Given the description of an element on the screen output the (x, y) to click on. 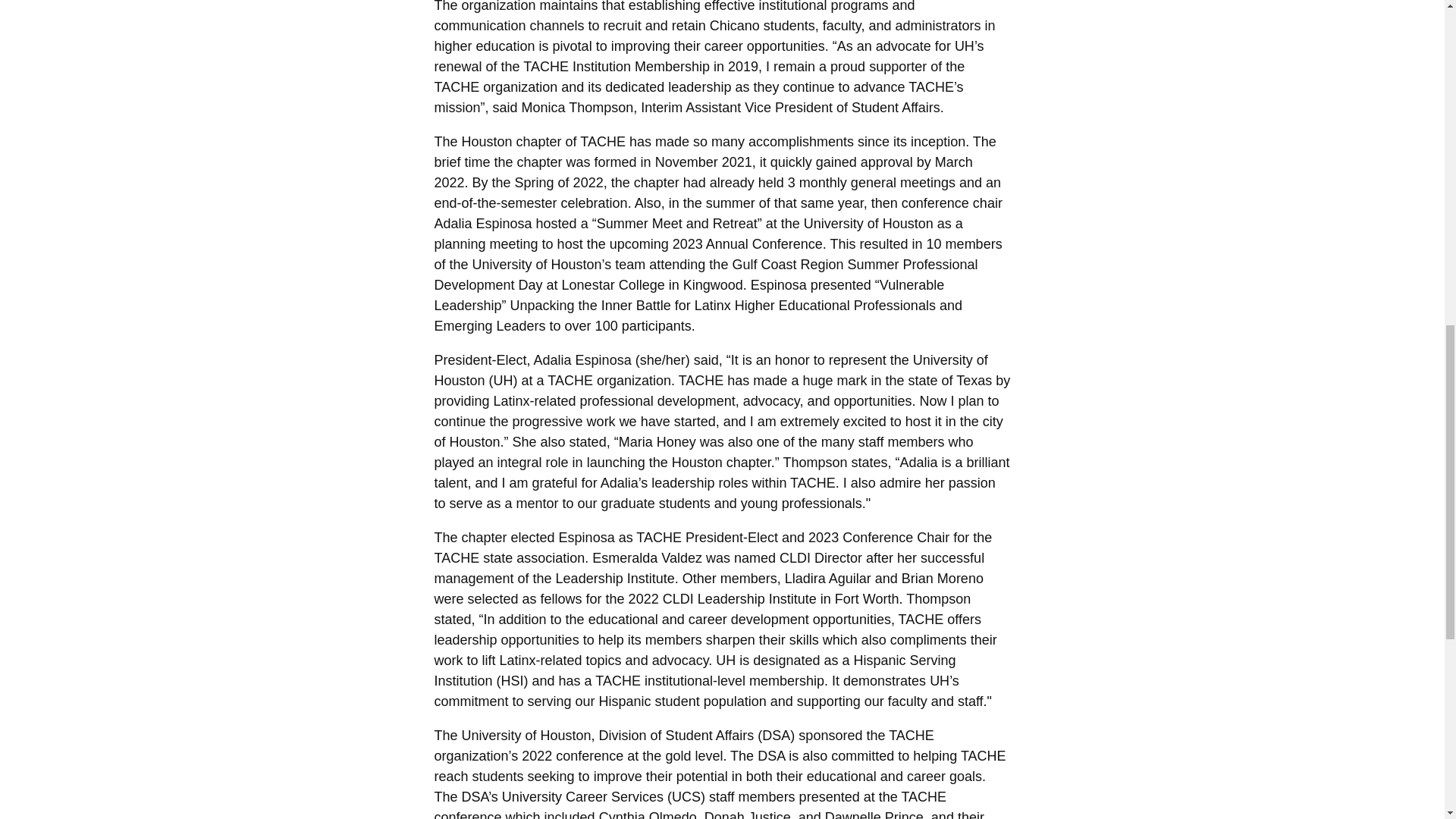
University of Houston (939, 680)
University of Houston (964, 46)
University of Houston (725, 660)
University of Houston (503, 380)
